Given the description of an element on the screen output the (x, y) to click on. 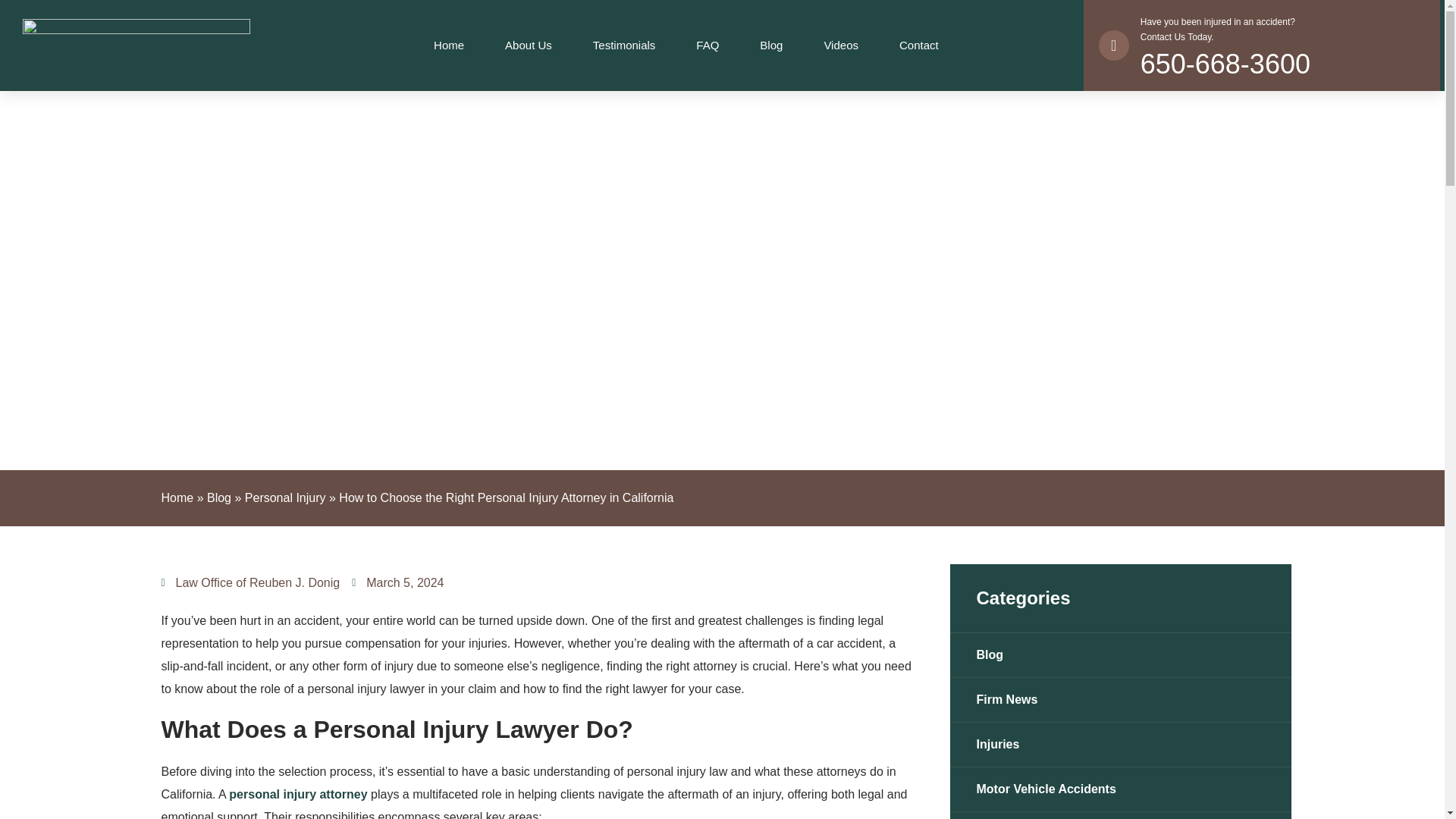
650-668-3600 (1225, 63)
About Us (1217, 29)
Testimonials (528, 45)
Home (624, 45)
personal injury attorney (176, 497)
Blog (297, 793)
Personal Injury (218, 497)
